Given the description of an element on the screen output the (x, y) to click on. 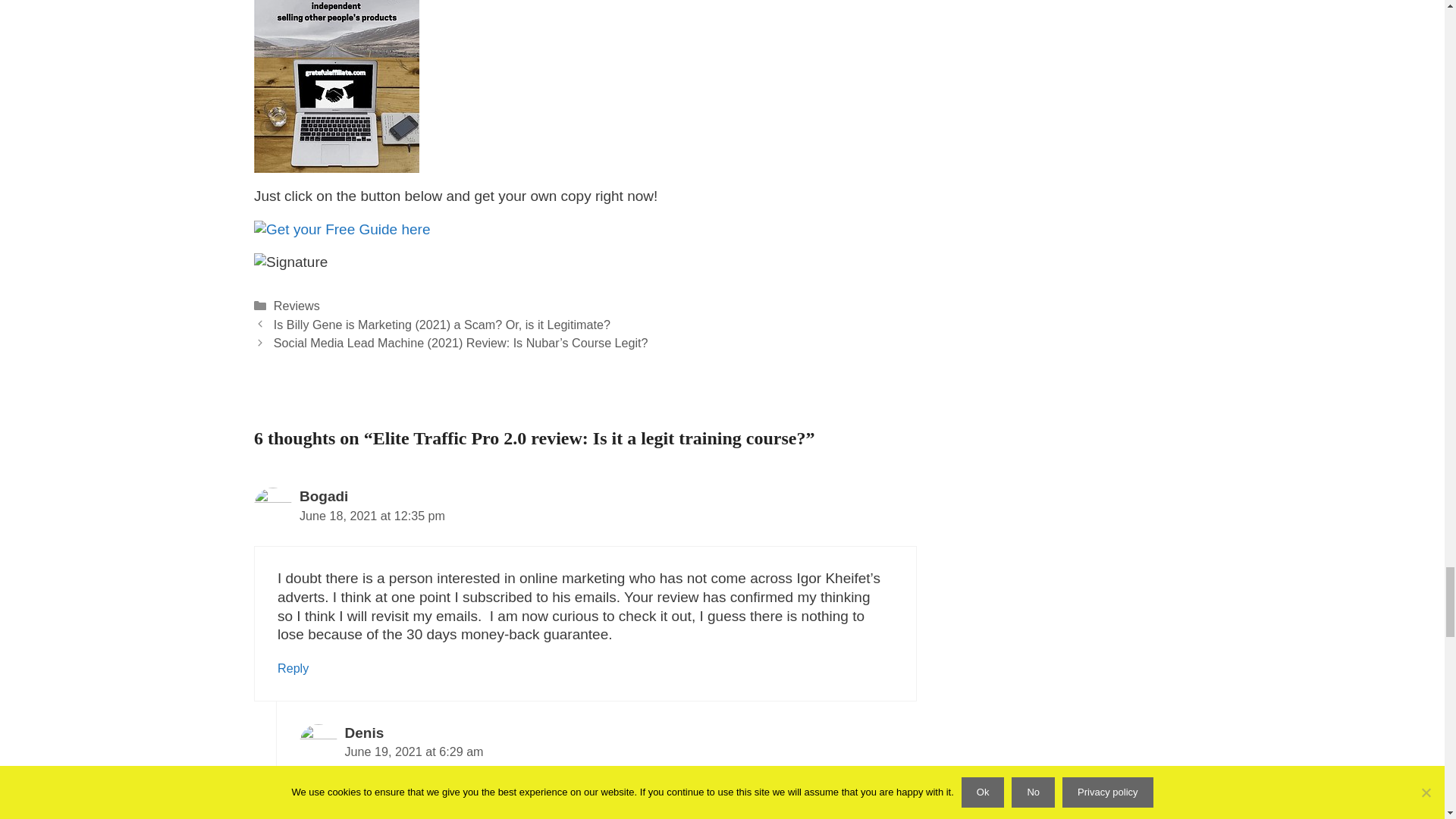
Reviews (296, 305)
